Given the description of an element on the screen output the (x, y) to click on. 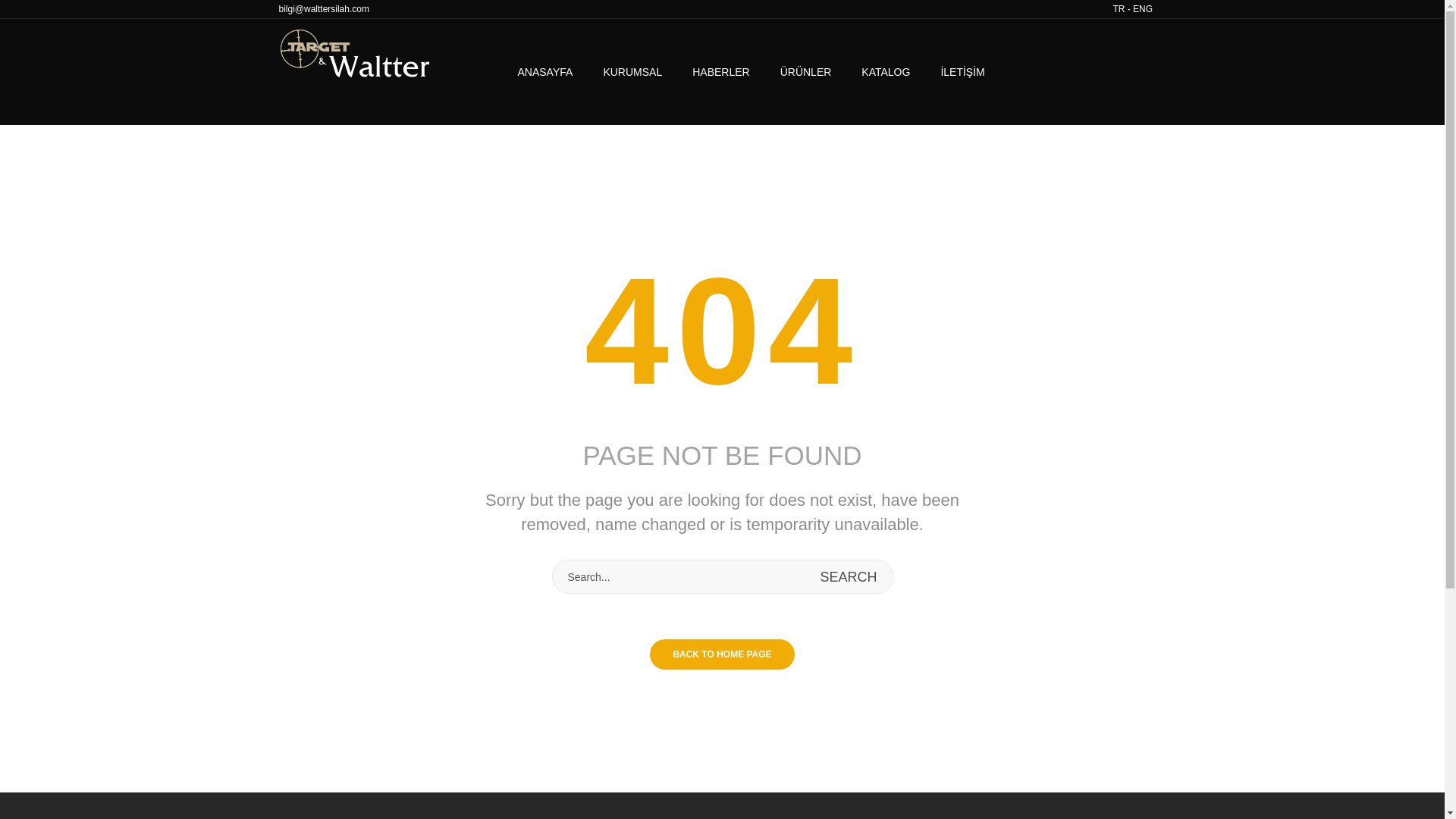
ENG (1142, 9)
KATALOG (884, 72)
KURUMSAL (632, 72)
SEARCH (848, 576)
HABERLER (720, 72)
Search... (721, 576)
ANASAYFA (552, 72)
TR (1118, 9)
